Given the description of an element on the screen output the (x, y) to click on. 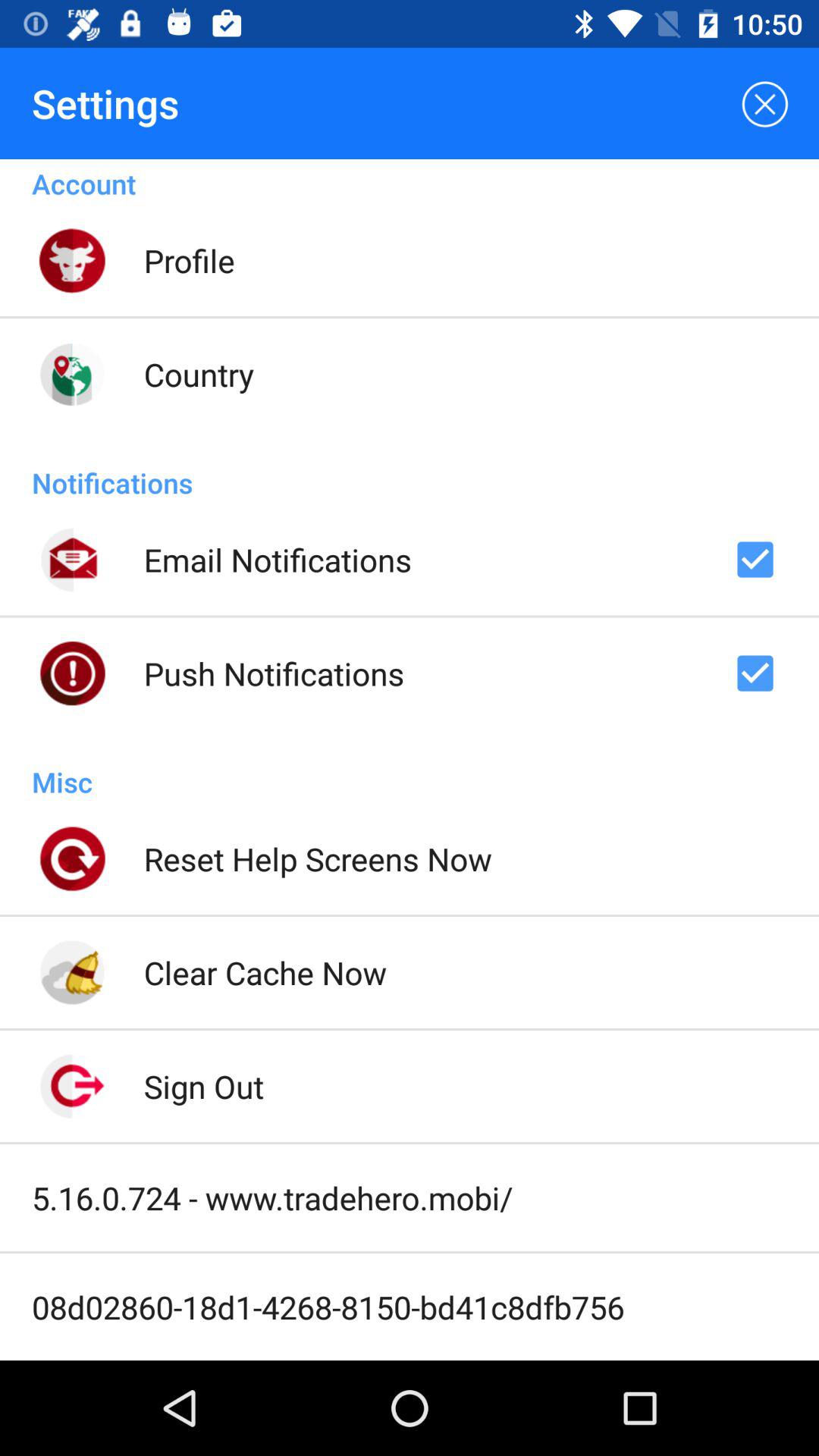
turn on icon above the clear cache now (317, 858)
